Given the description of an element on the screen output the (x, y) to click on. 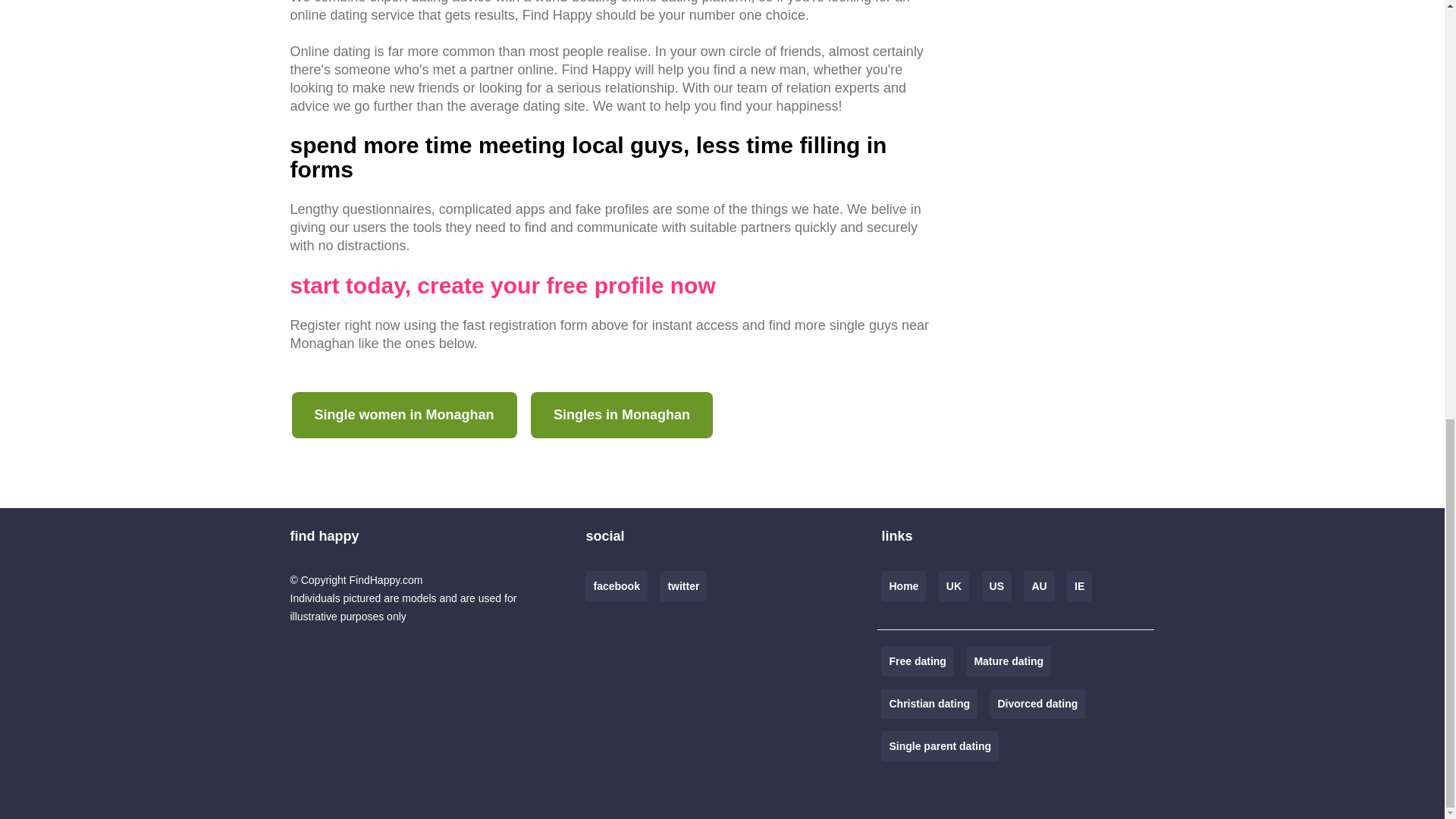
Mature dating (1008, 661)
Divorced dating (1037, 703)
Single parent dating (939, 746)
UK (954, 585)
Home (903, 585)
AU (1038, 585)
Singles in Monaghan (622, 415)
Single women in Monaghan (403, 415)
Christian dating (928, 703)
facebook (615, 585)
